Given the description of an element on the screen output the (x, y) to click on. 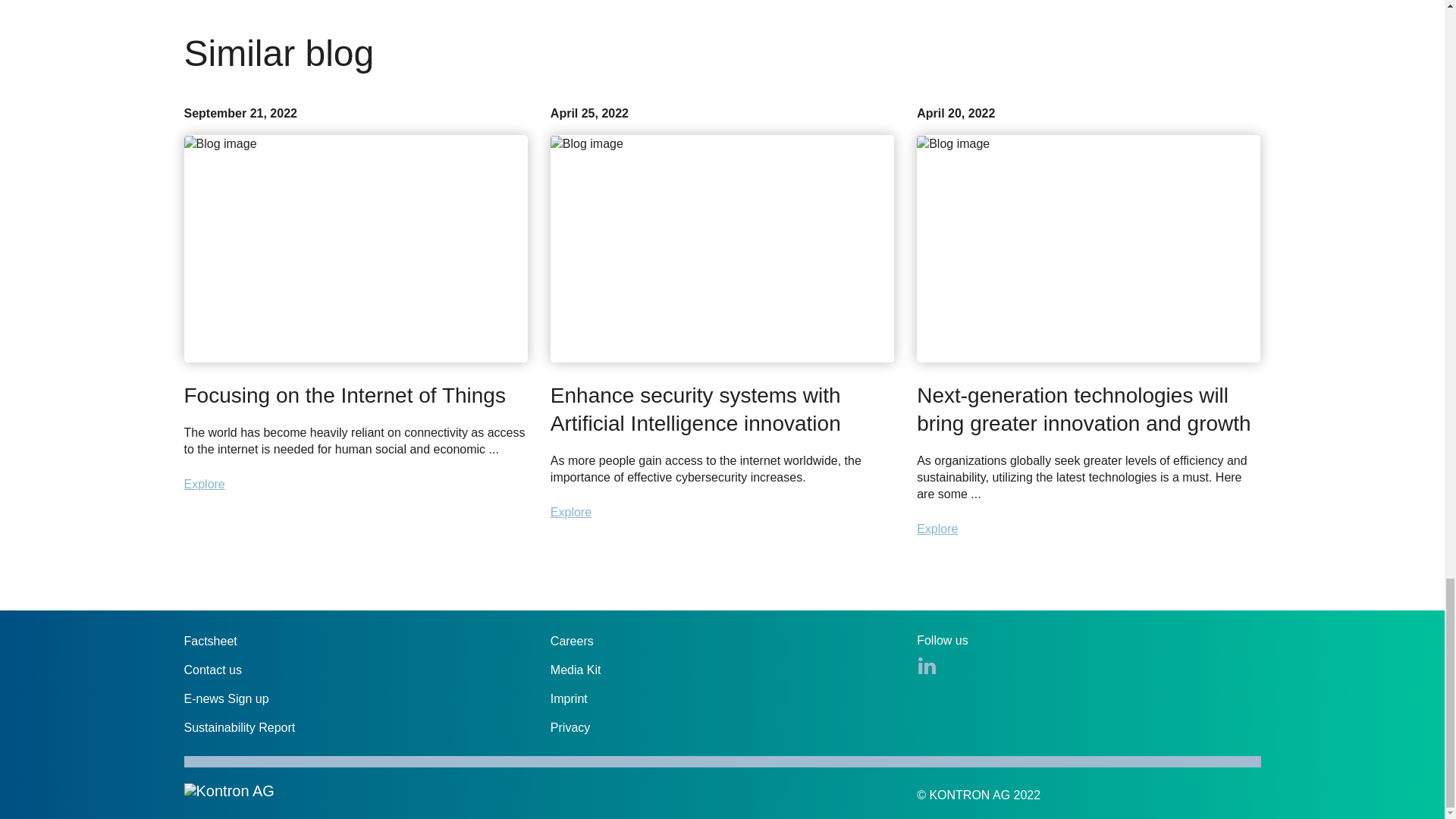
Explore (203, 483)
Media Kit (575, 669)
September 21, 2022 (355, 234)
Careers (572, 640)
E-news Sign up (225, 698)
April 20, 2022 (1088, 234)
Sustainability Report (239, 727)
April 25, 2022 (721, 234)
